Given the description of an element on the screen output the (x, y) to click on. 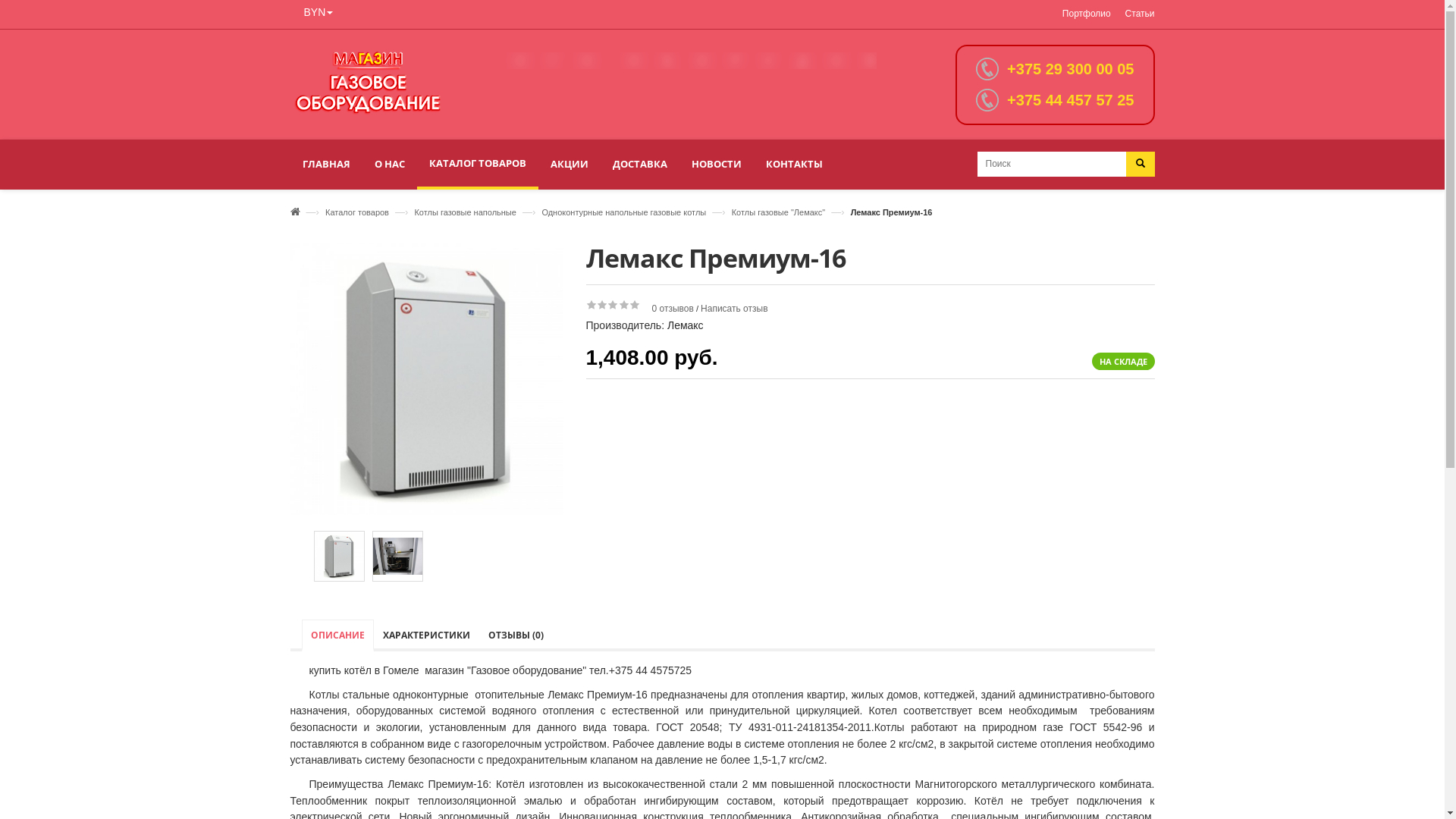
BYN Element type: text (317, 12)
